Given the description of an element on the screen output the (x, y) to click on. 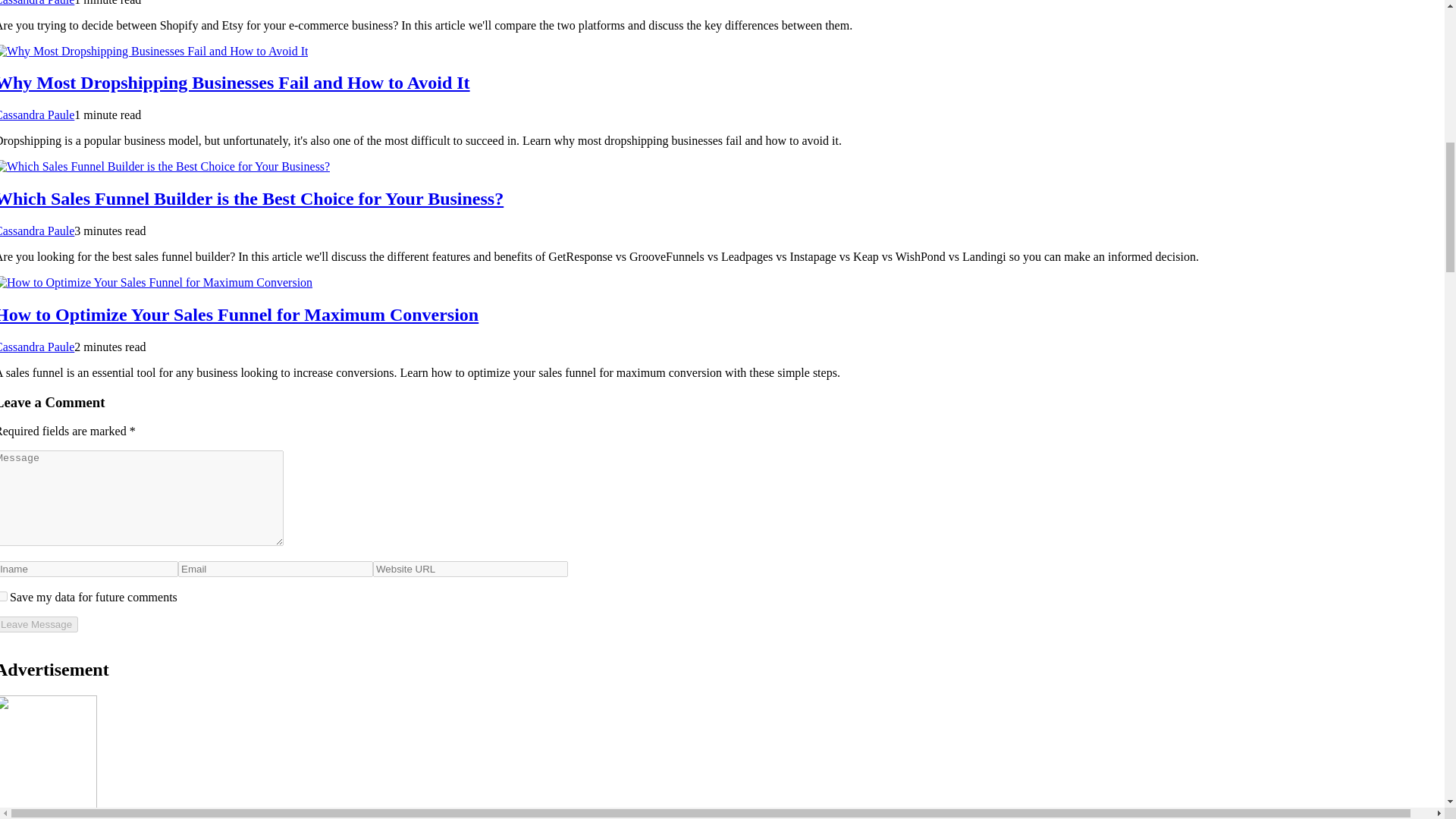
Cassandra Paule (37, 346)
How to Optimize Your Sales Funnel for Maximum Conversion (239, 314)
Cassandra Paule (37, 230)
Posts by Cassandra Paule (37, 114)
Posts by Cassandra Paule (37, 346)
Posts by Cassandra Paule (37, 2)
Leave Message (39, 624)
Cassandra Paule (37, 114)
Cassandra Paule (37, 2)
Posts by Cassandra Paule (37, 230)
